Given the description of an element on the screen output the (x, y) to click on. 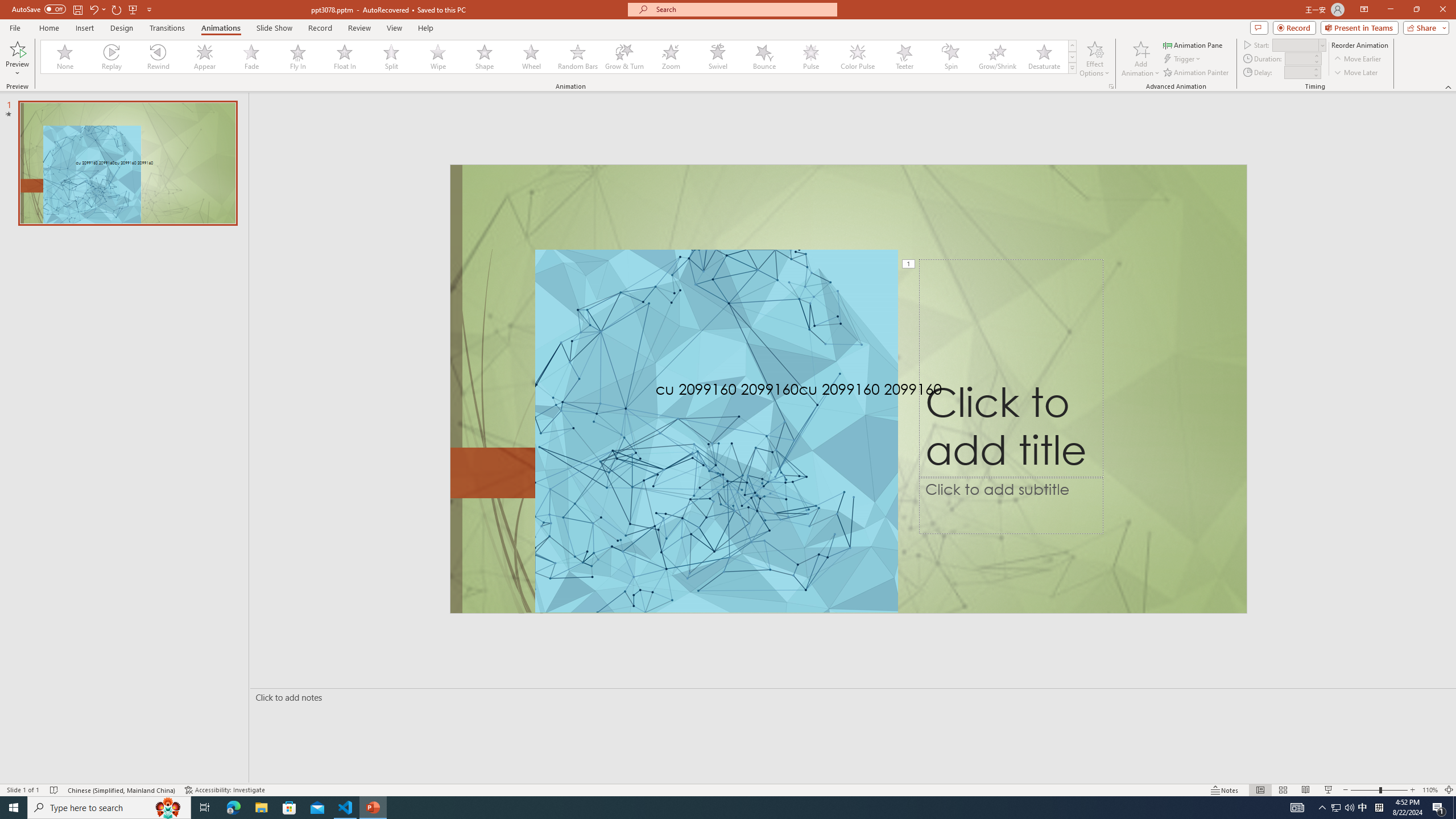
Trigger (1182, 58)
Appear (205, 56)
Animation Pane (1193, 44)
Grow/Shrink (997, 56)
AutomationID: AnimationGallery (558, 56)
Wheel (531, 56)
Replay (111, 56)
Color Pulse (857, 56)
